Given the description of an element on the screen output the (x, y) to click on. 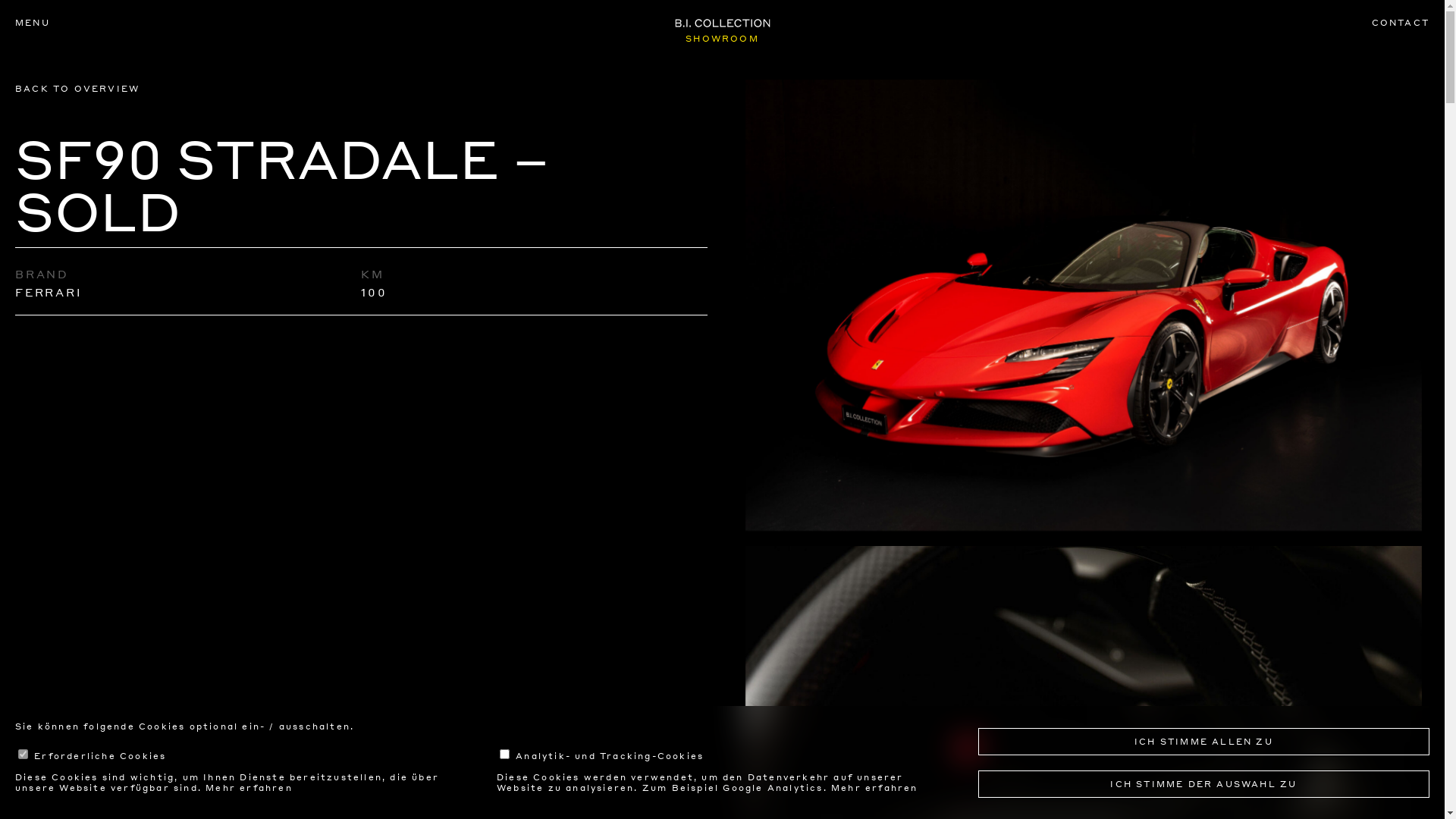
CONTACT Element type: text (1400, 22)
BACK TO OVERVIEW Element type: text (77, 88)
Mehr erfahren Element type: text (874, 787)
ICH STIMME ALLEN ZU Element type: text (1203, 741)
Mehr erfahren Element type: text (248, 787)
ICH STIMME DER AUSWAHL ZU Element type: text (1203, 783)
